Given the description of an element on the screen output the (x, y) to click on. 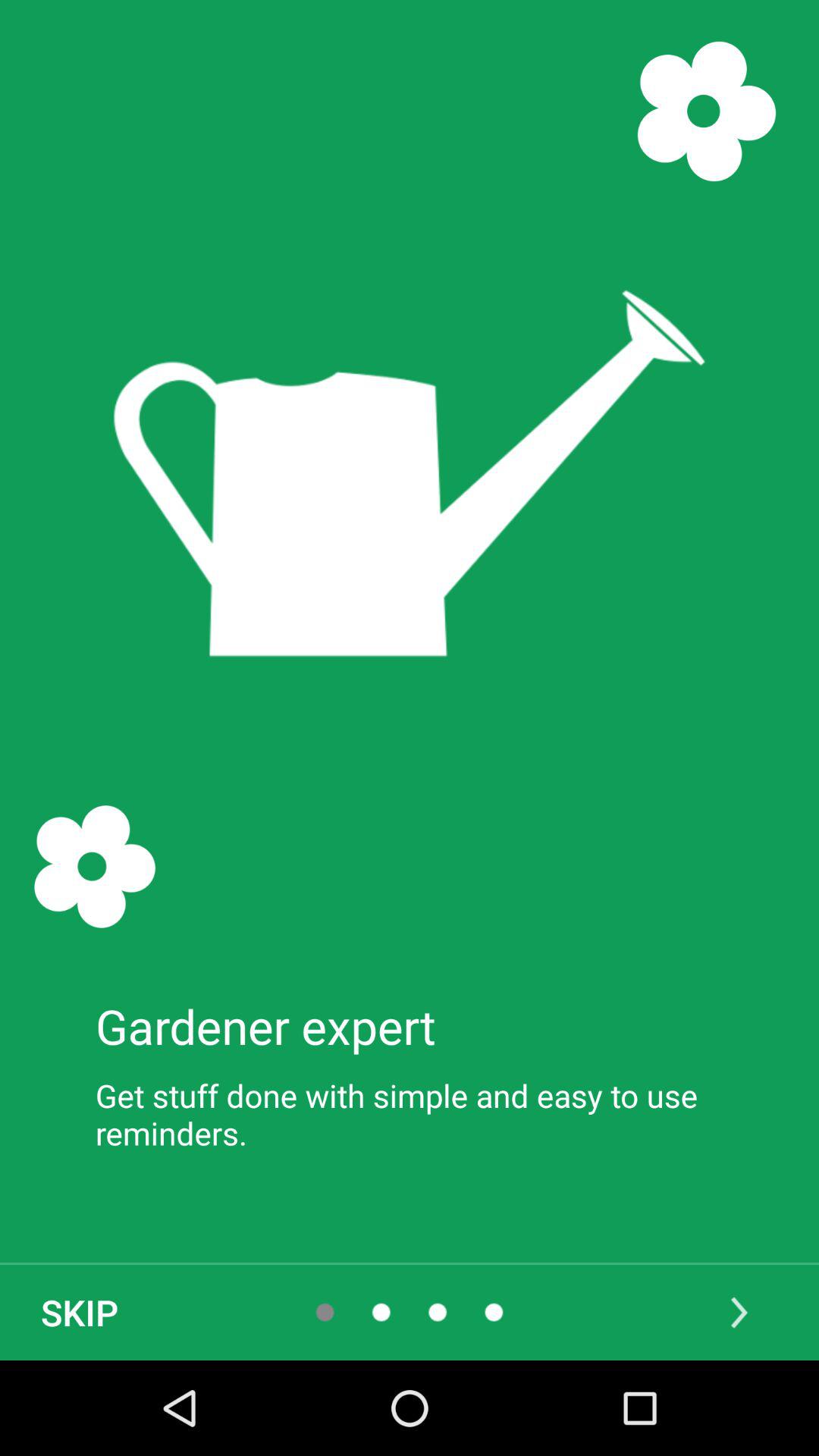
tap item below get stuff done (79, 1312)
